Given the description of an element on the screen output the (x, y) to click on. 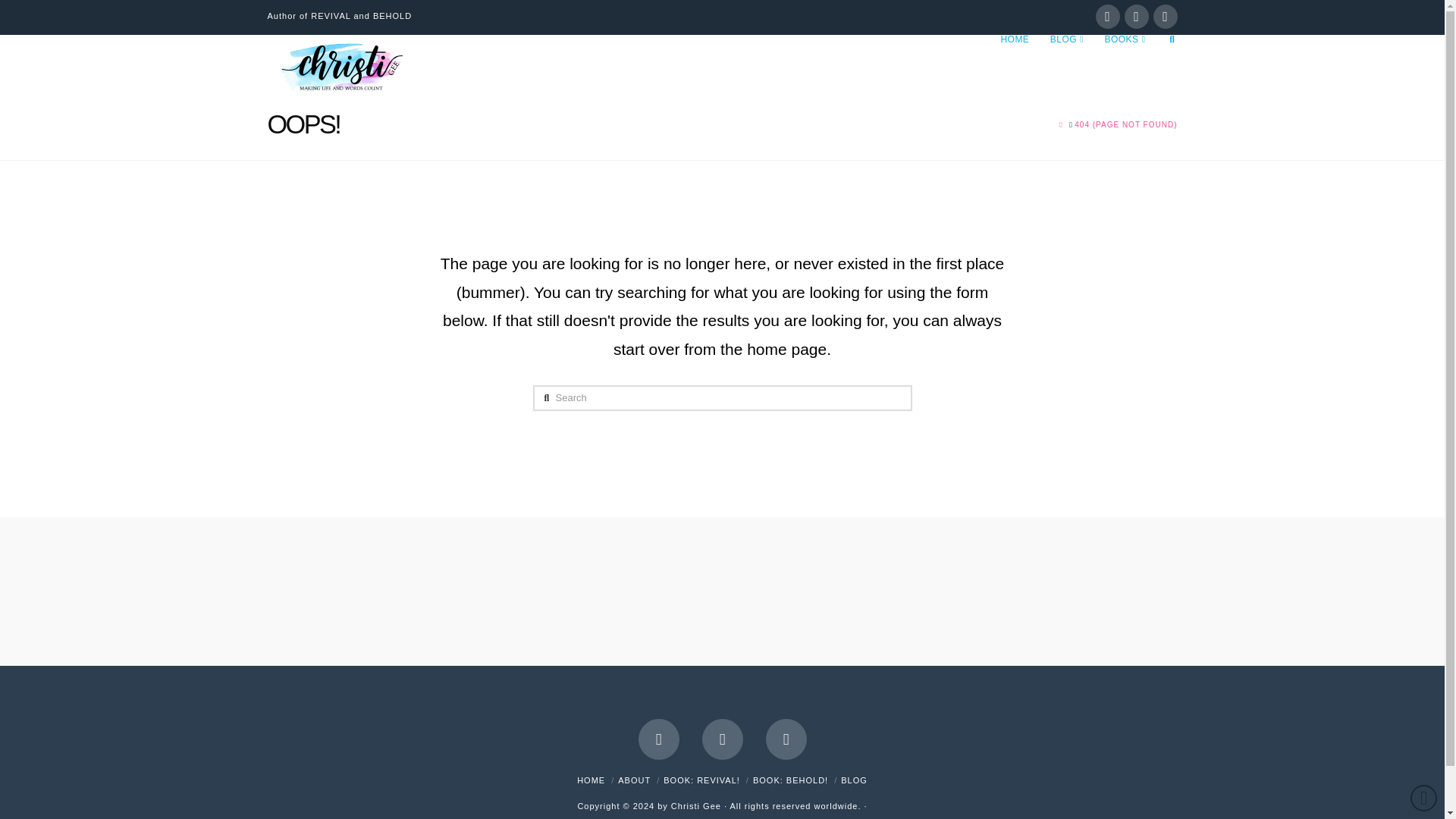
Facebook (659, 739)
Pinterest (785, 739)
BOOKS (1125, 61)
Pinterest (1164, 16)
Facebook (1106, 16)
HOME (1014, 61)
Instagram (721, 739)
HOME (590, 779)
Back to Top (1423, 797)
ABOUT (633, 779)
